Given the description of an element on the screen output the (x, y) to click on. 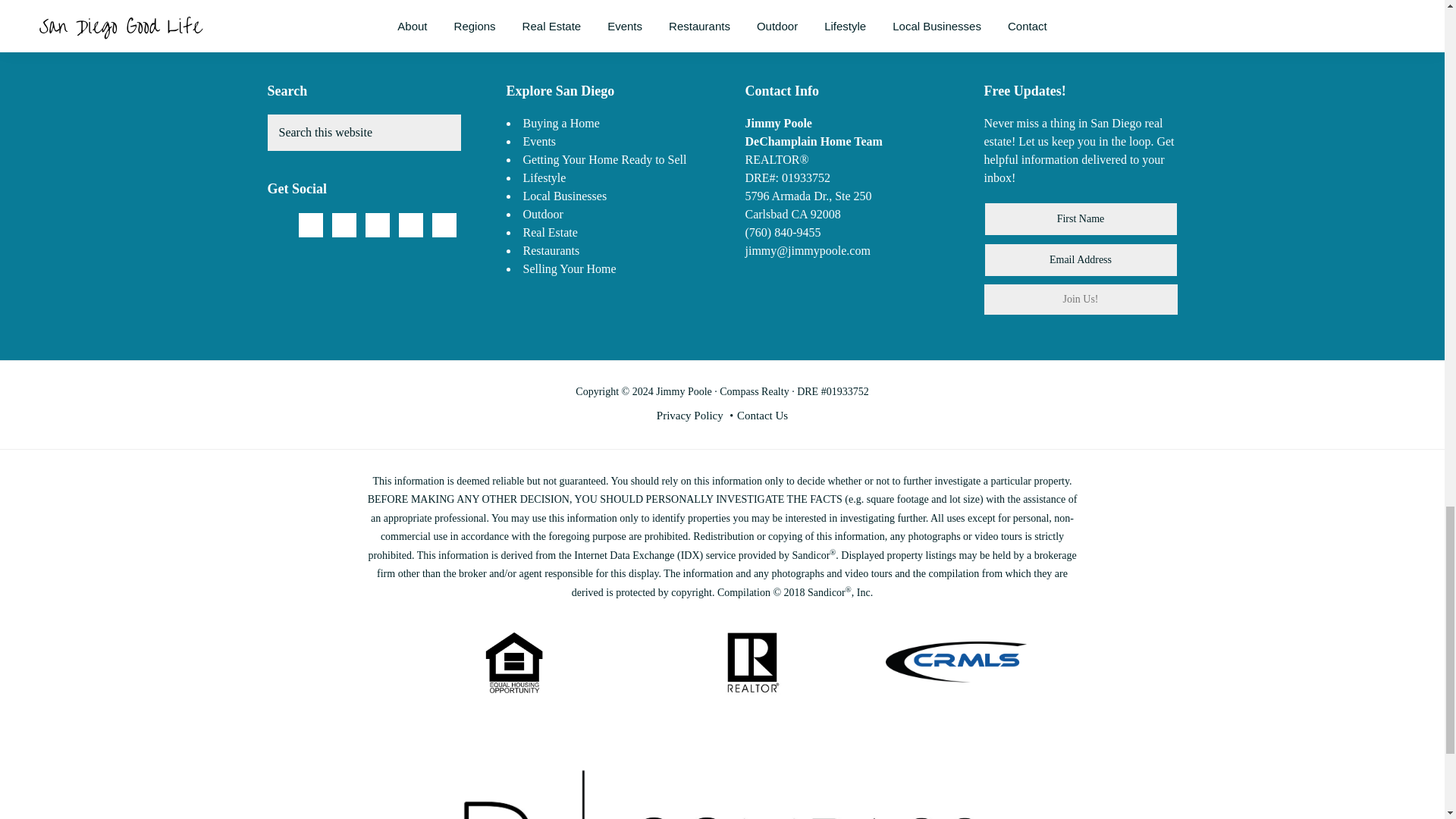
Join Us! (1080, 299)
